Given the description of an element on the screen output the (x, y) to click on. 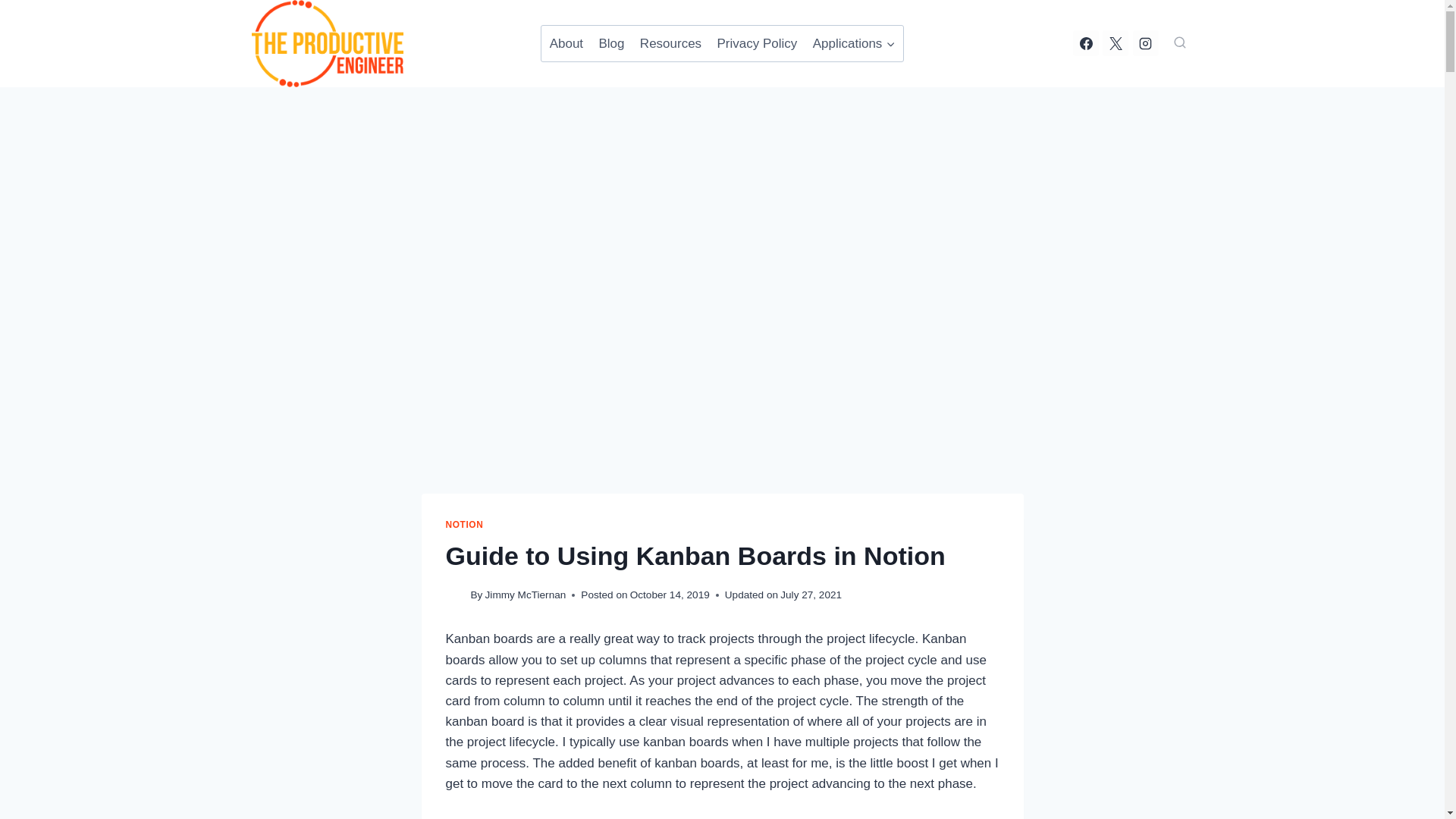
Privacy Policy (757, 43)
Resources (670, 43)
About (566, 43)
Jimmy McTiernan (525, 594)
NOTION (464, 524)
Applications (853, 43)
Blog (611, 43)
